Given the description of an element on the screen output the (x, y) to click on. 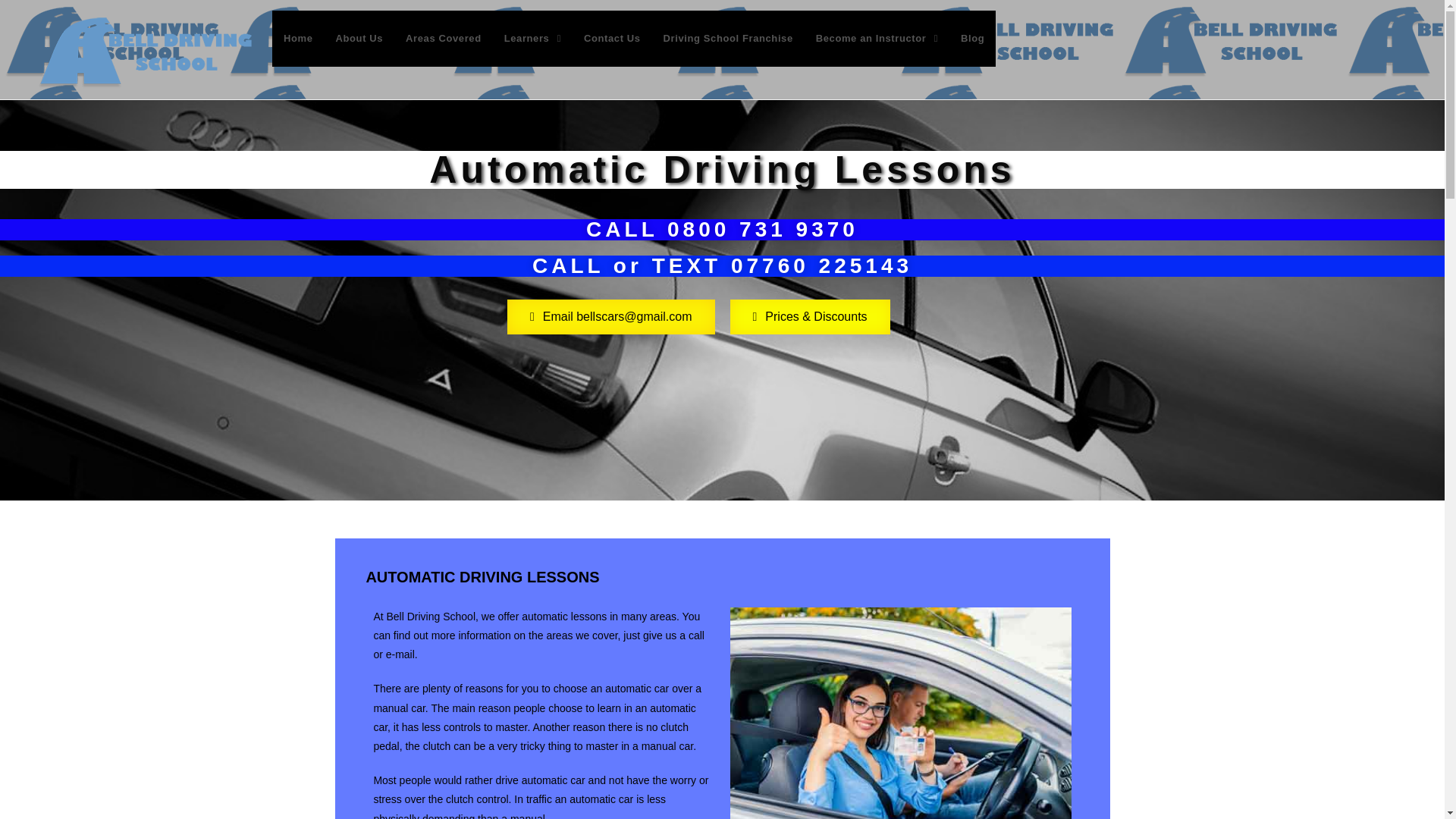
Driving School Franchise (728, 38)
About Us (359, 38)
Learners (532, 38)
Home (298, 38)
Contact Us (612, 38)
Areas Covered (443, 38)
Become an Instructor (877, 38)
